Given the description of an element on the screen output the (x, y) to click on. 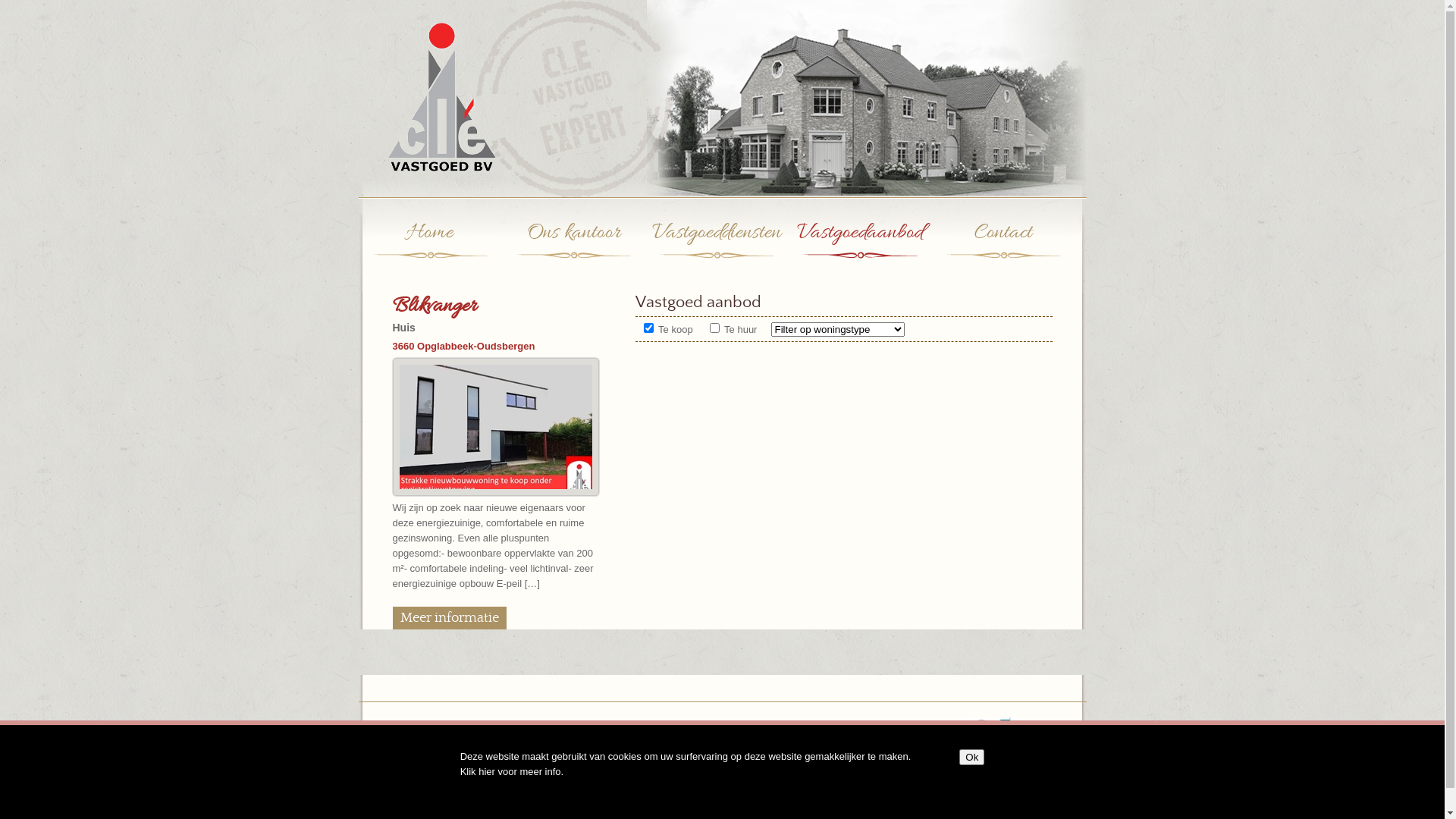
Home Element type: text (429, 247)
Vastgoeddiensten Element type: text (715, 247)
Ok Element type: text (971, 757)
de deontologische code BIV Element type: text (841, 754)
Klik hier voor meer info Element type: text (510, 771)
Vastgoedaanbod Element type: text (859, 247)
Meer informatie Element type: text (449, 617)
Terug naar de homepage Element type: hover (426, 176)
info@cle-vastgoed.be Element type: text (877, 724)
Ons kantoor Element type: text (573, 247)
Contact Element type: text (1002, 247)
